Given the description of an element on the screen output the (x, y) to click on. 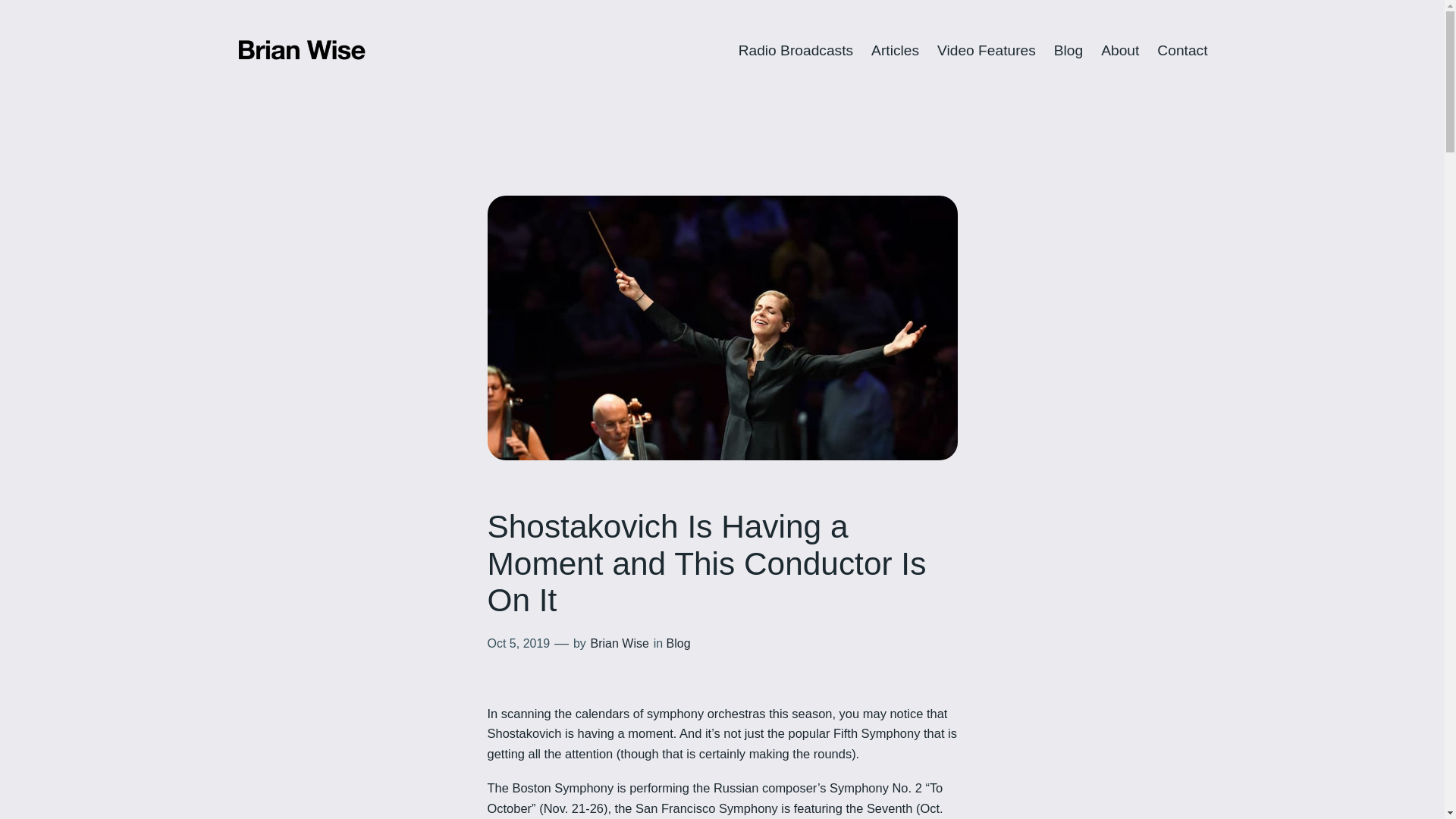
Blog (678, 643)
About (1119, 51)
Video Features (986, 51)
Articles (894, 51)
Contact (1182, 51)
Radio Broadcasts (795, 51)
Blog (1068, 51)
Brian Wise (620, 643)
Oct 5, 2019 (518, 643)
